Given the description of an element on the screen output the (x, y) to click on. 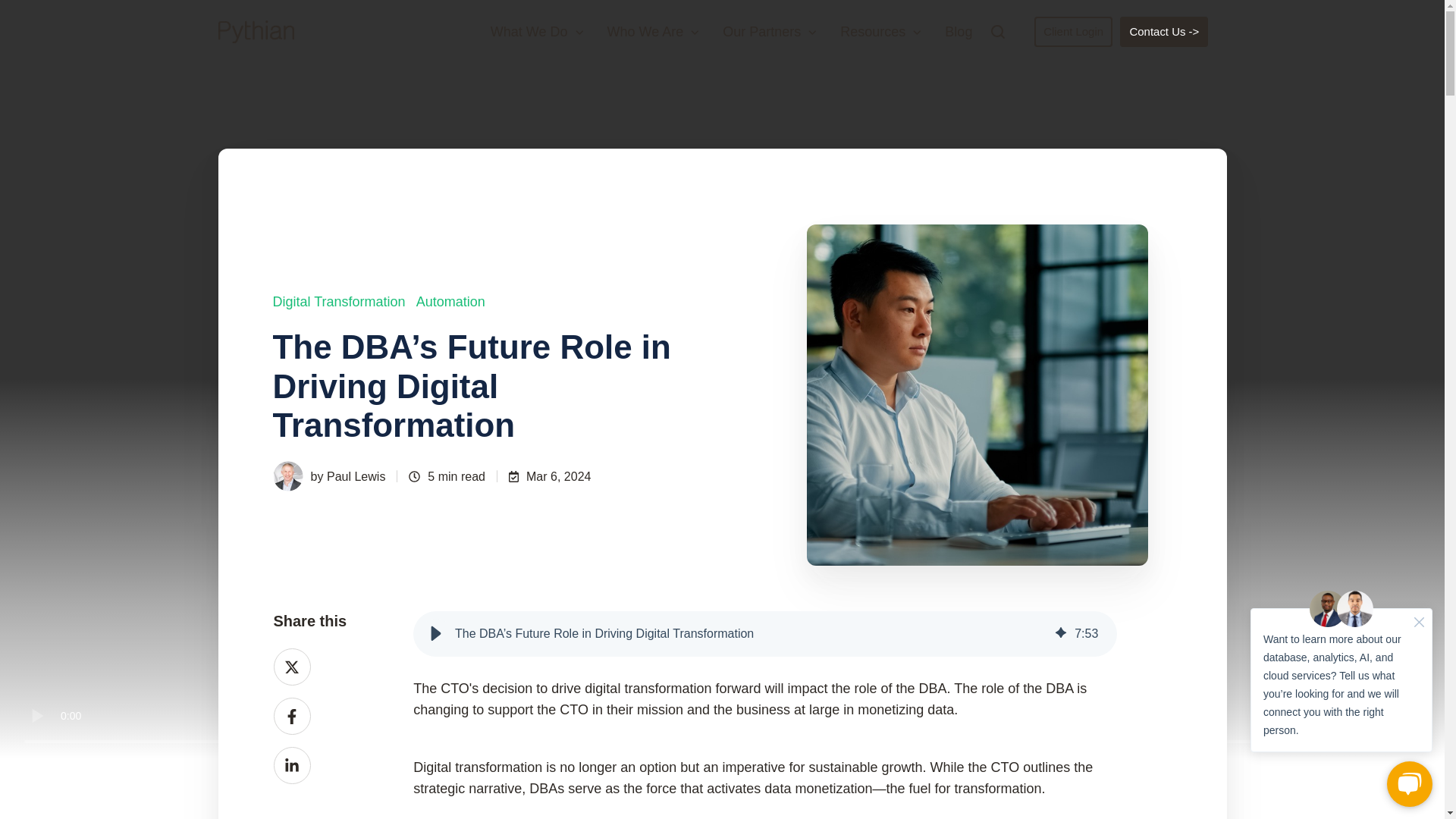
Pythian (256, 31)
What We Do (537, 31)
Who We Are (653, 31)
Resources (880, 31)
Our Partners (769, 31)
